Given the description of an element on the screen output the (x, y) to click on. 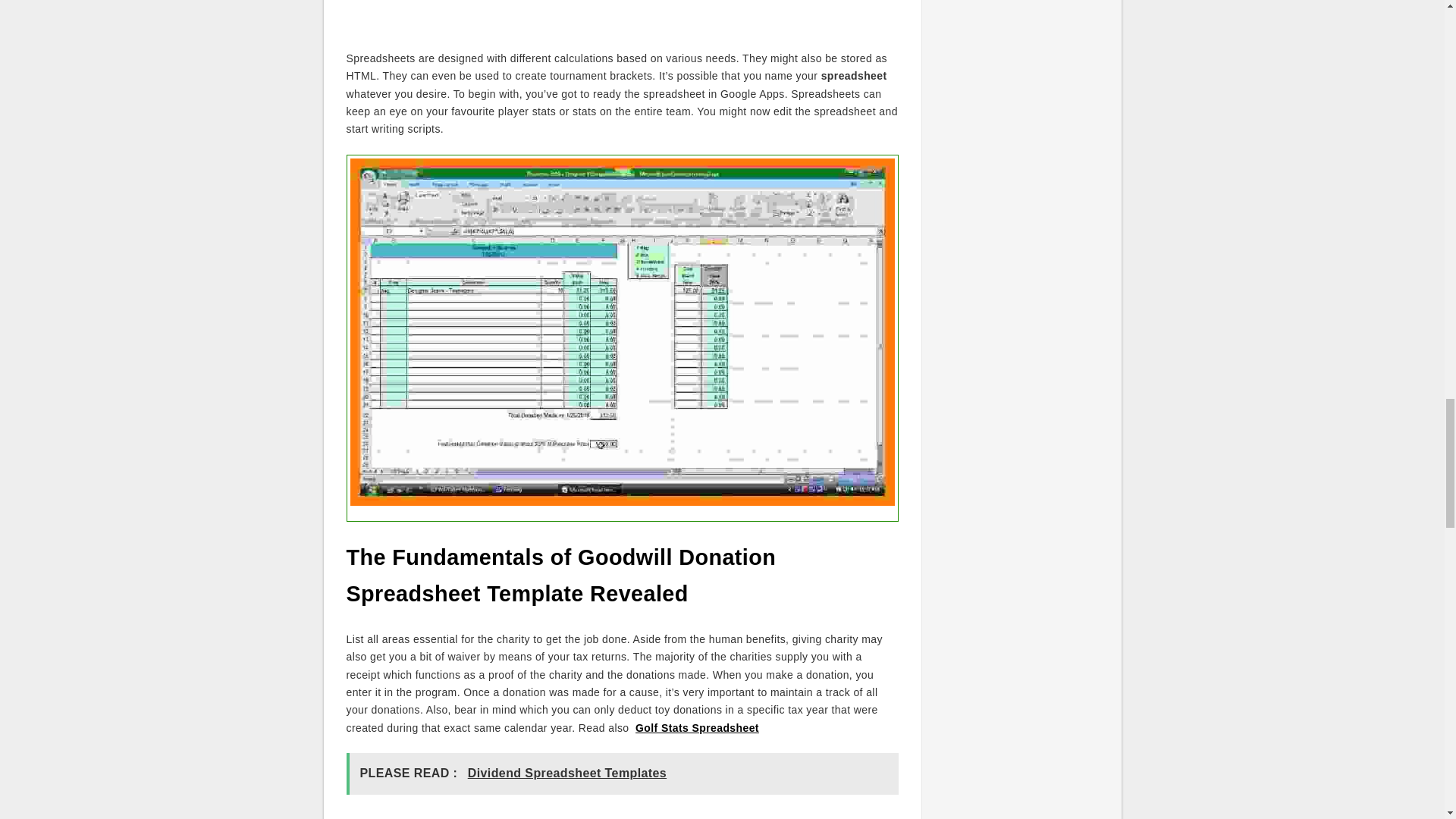
Golf Stats Spreadsheet (696, 727)
PLEASE READ :   Dividend Spreadsheet Templates (622, 773)
